Given the description of an element on the screen output the (x, y) to click on. 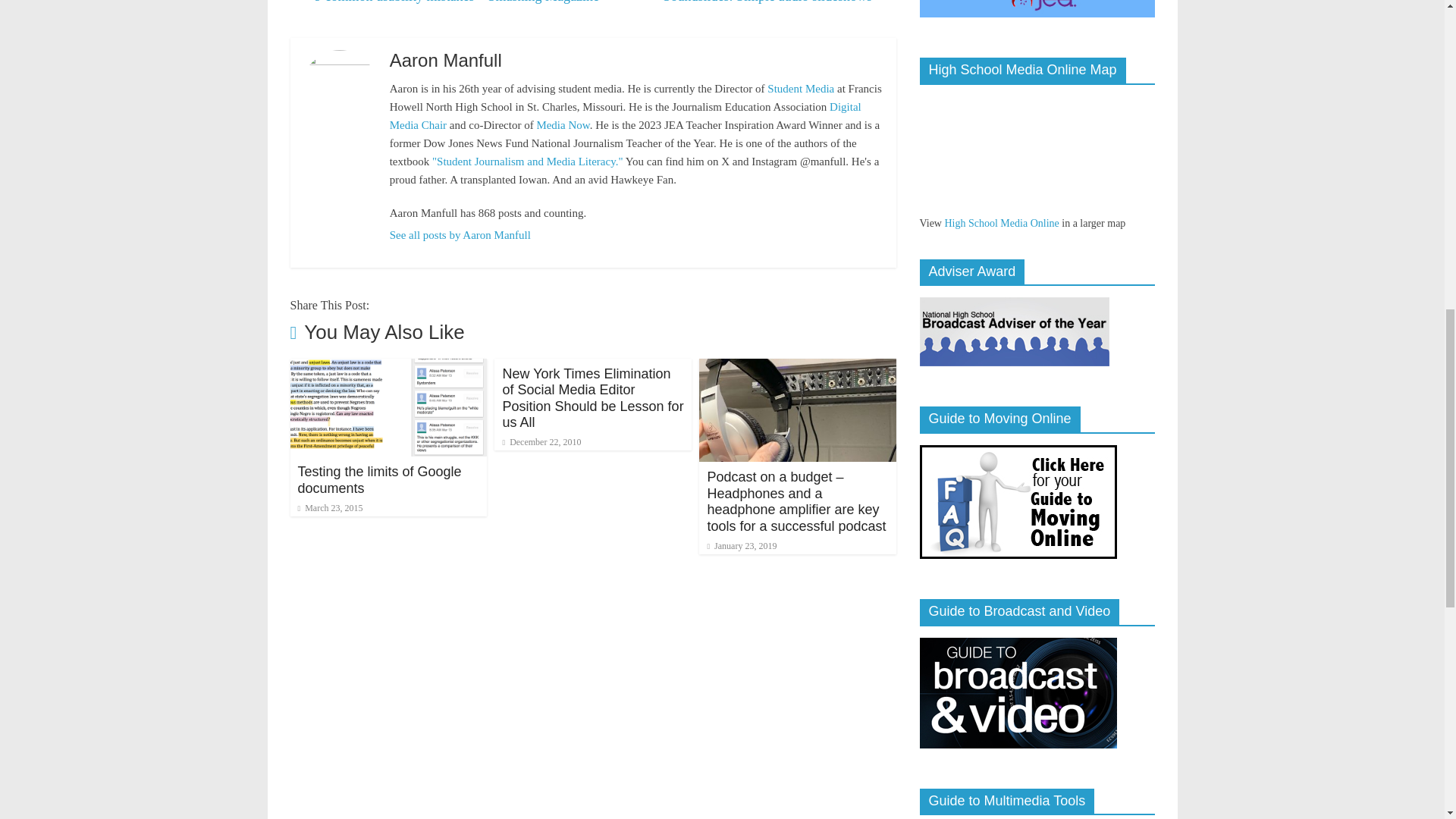
Testing the limits of Google documents (387, 367)
7:00 am (329, 507)
10:17 am (541, 441)
Testing the limits of Google documents (379, 480)
